Given the description of an element on the screen output the (x, y) to click on. 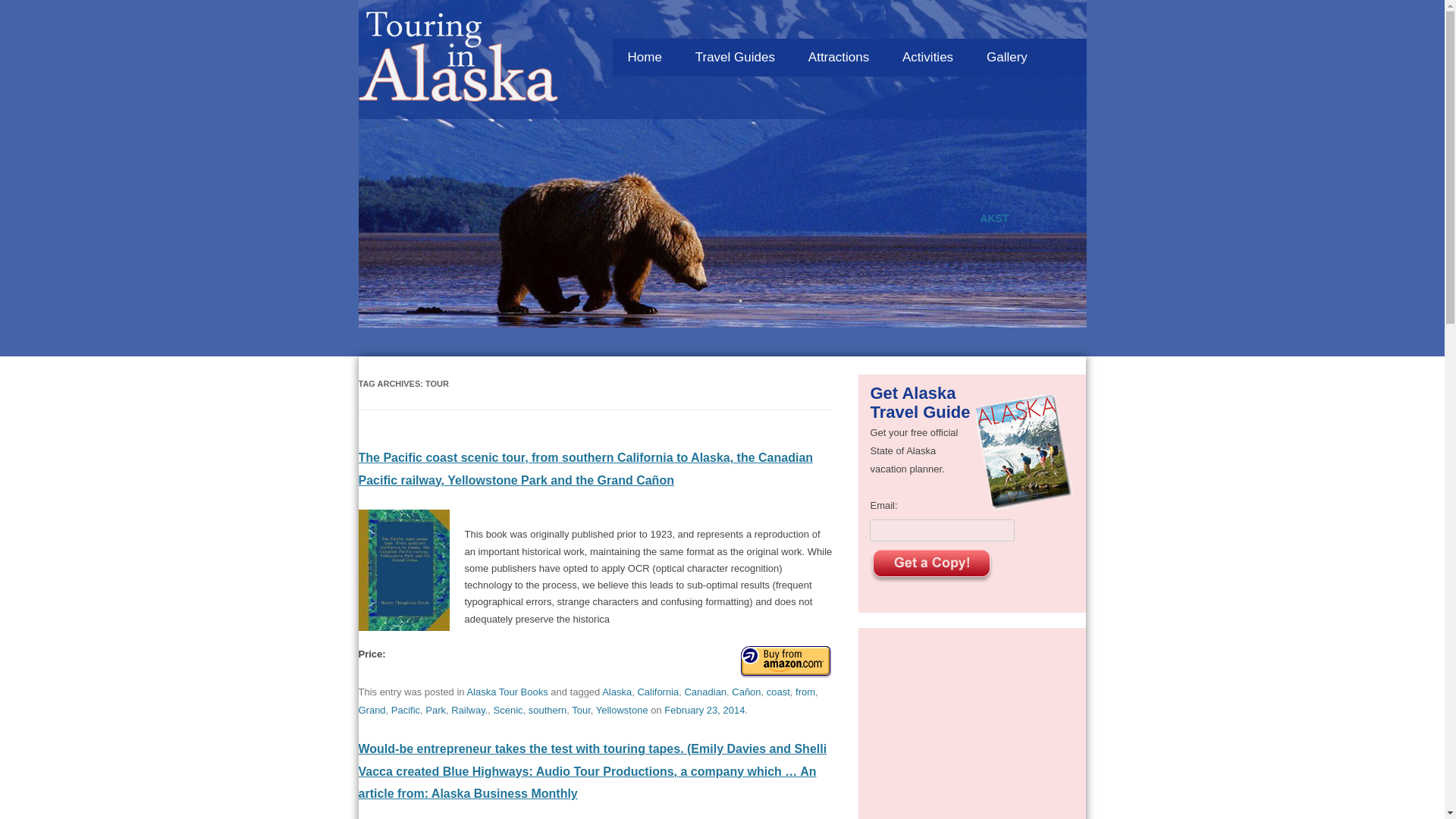
Alaska (616, 691)
Travel Guides (734, 57)
from (804, 691)
Tour (581, 709)
Skip to content (884, 34)
Alaska Tour Books (506, 691)
southern (547, 709)
Gallery (1006, 57)
Send (930, 565)
Skip to content (884, 34)
Park (435, 709)
6:52 am (703, 709)
Attractions (838, 57)
Railway. (469, 709)
Activities (927, 57)
